Given the description of an element on the screen output the (x, y) to click on. 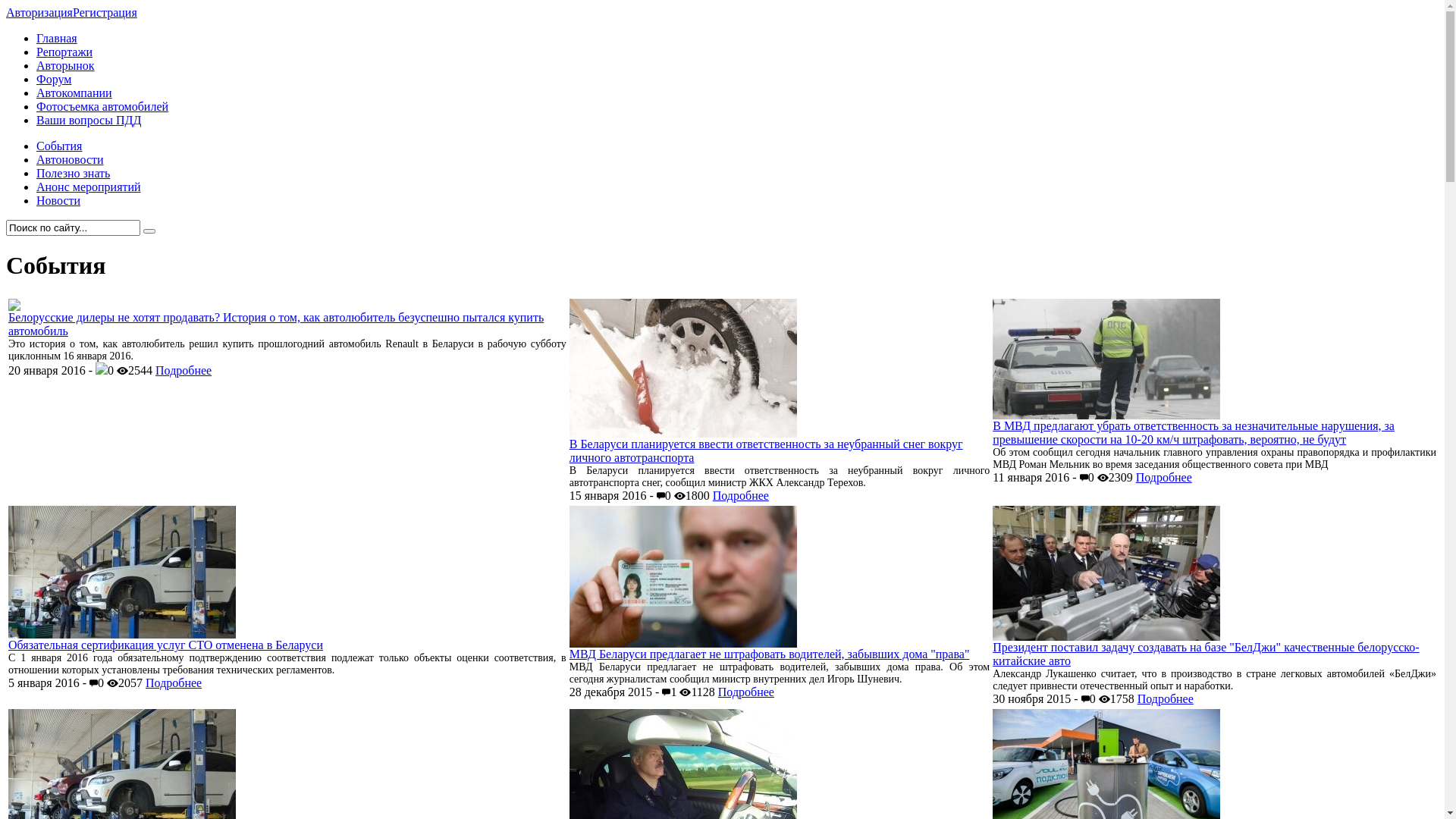
submit Element type: text (149, 231)
